Given the description of an element on the screen output the (x, y) to click on. 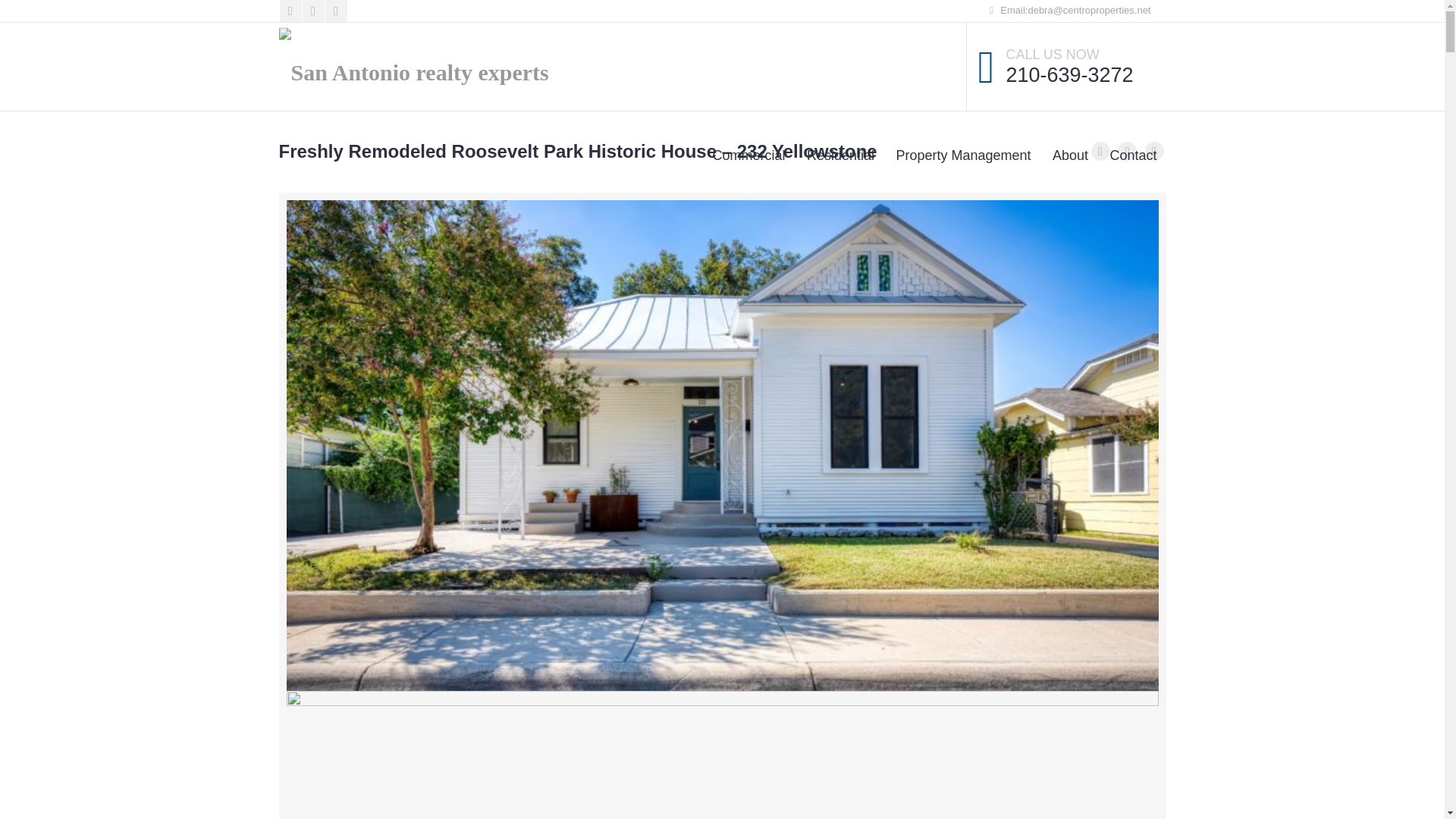
Commercial (748, 155)
San Antonio realty experts (413, 66)
Share on LinkedIn (1153, 150)
210-639-3272 (1069, 74)
LinkedIn (312, 11)
Instagram (335, 11)
Facebook (290, 11)
Share on Facebook (1099, 150)
Share on Twitter (1127, 150)
Property Management (962, 155)
Residential (840, 155)
